Given the description of an element on the screen output the (x, y) to click on. 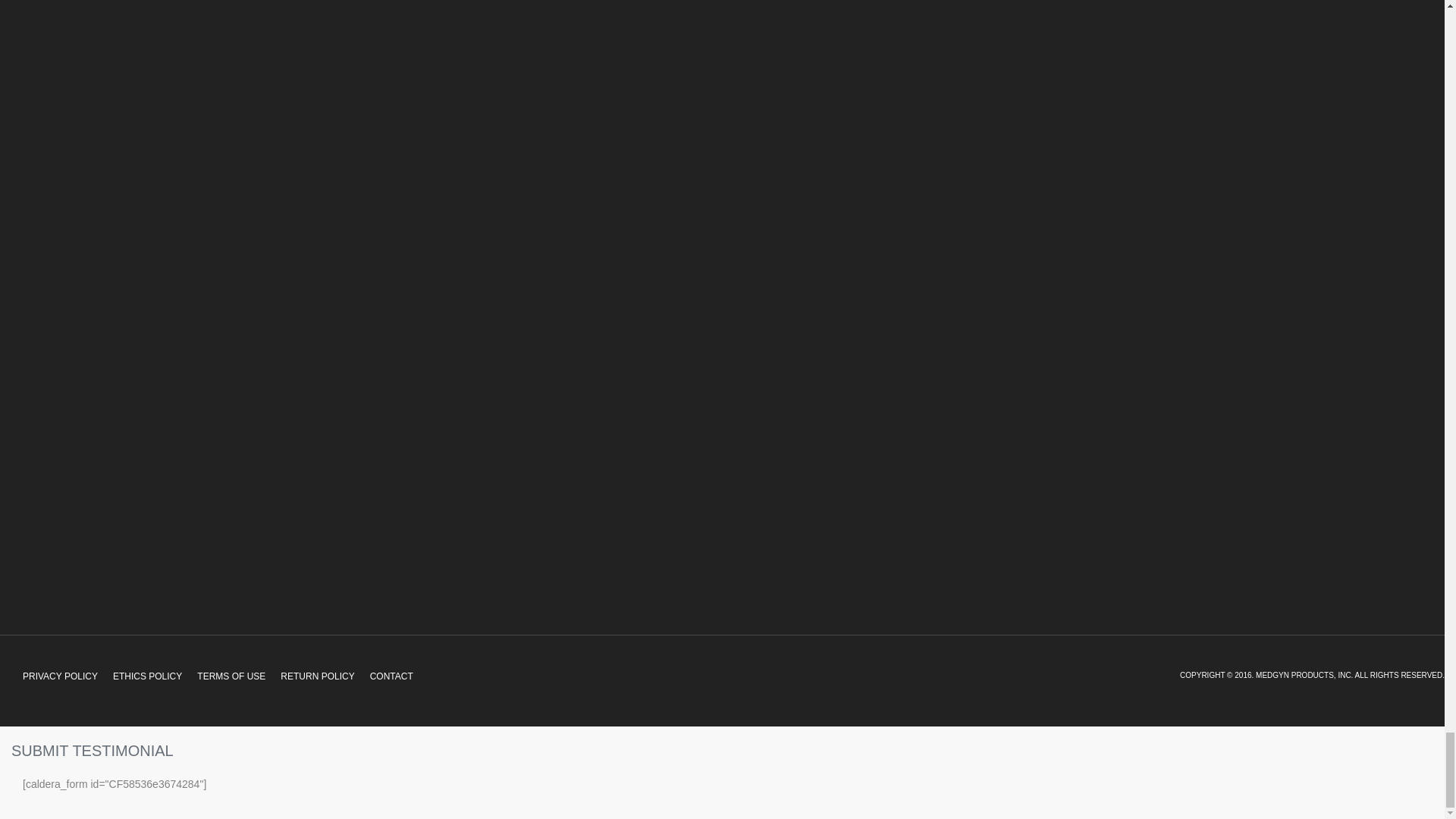
CONTACT (391, 675)
PRIVACY POLICY (59, 675)
RETURN POLICY (317, 675)
ETHICS POLICY (146, 675)
TERMS OF USE (231, 675)
